Given the description of an element on the screen output the (x, y) to click on. 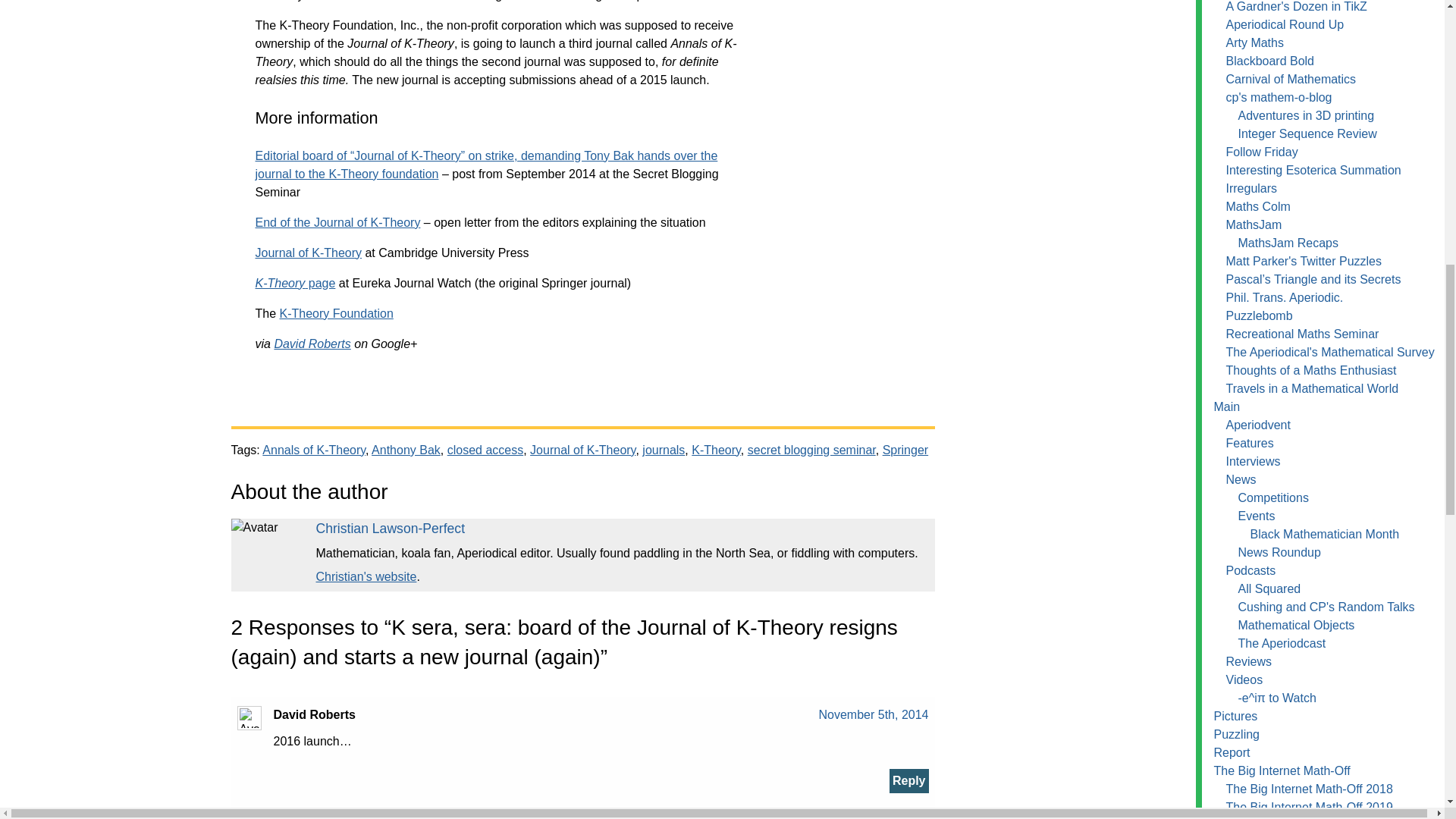
closed access (485, 449)
Anthony Bak (406, 449)
Springer (905, 449)
Journal of K-Theory (581, 449)
Christian's posts (389, 528)
End of the Journal of K-Theory (337, 222)
Journal of K-Theory (307, 252)
journals (663, 449)
November 5th, 2014 (873, 714)
K-Theory Foundation (336, 313)
